Given the description of an element on the screen output the (x, y) to click on. 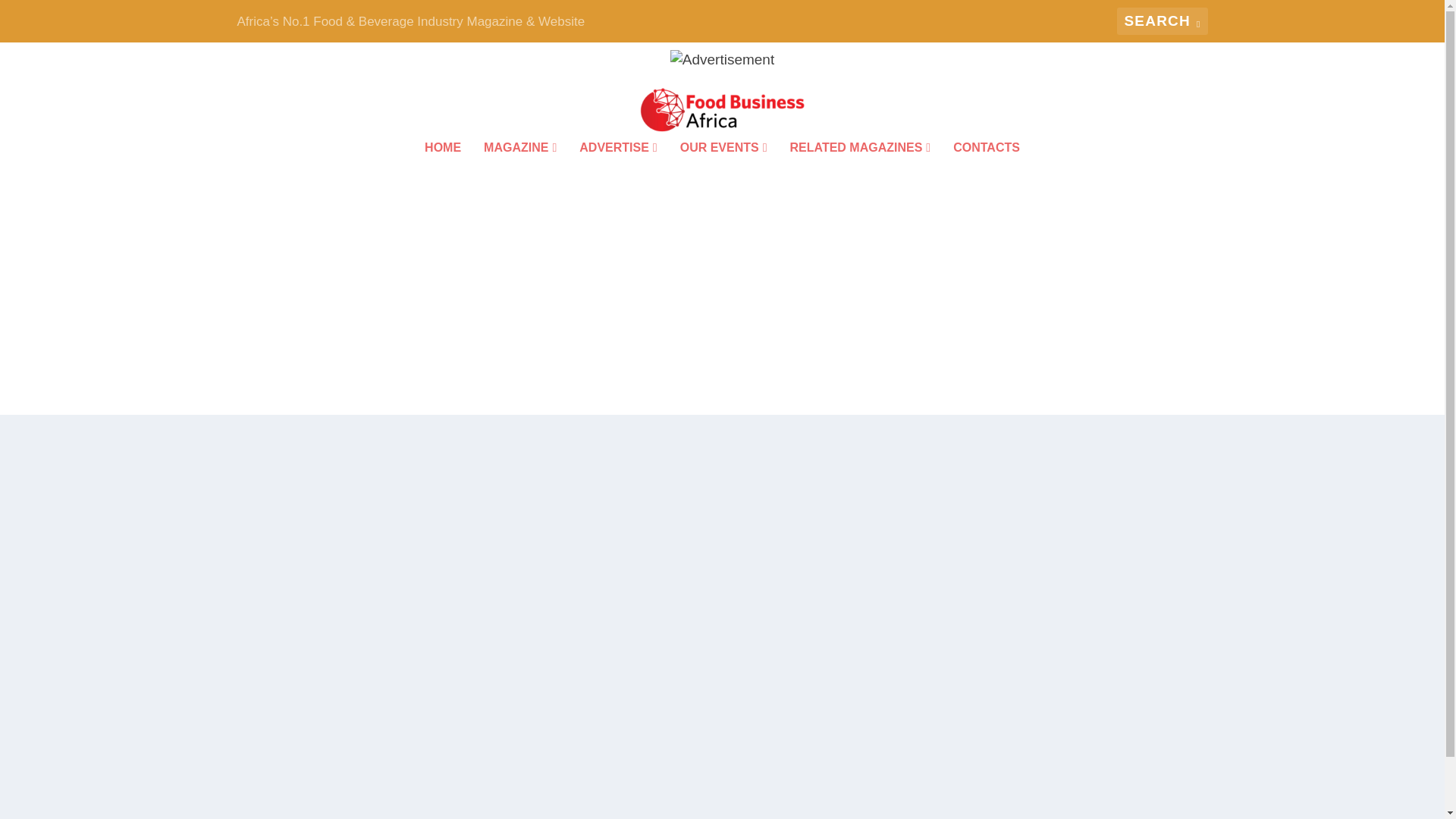
OUR EVENTS (723, 167)
MAGAZINE (519, 167)
Search for: (1161, 21)
RELATED MAGAZINES (860, 167)
CONTACTS (986, 167)
ADVERTISE (617, 167)
